Given the description of an element on the screen output the (x, y) to click on. 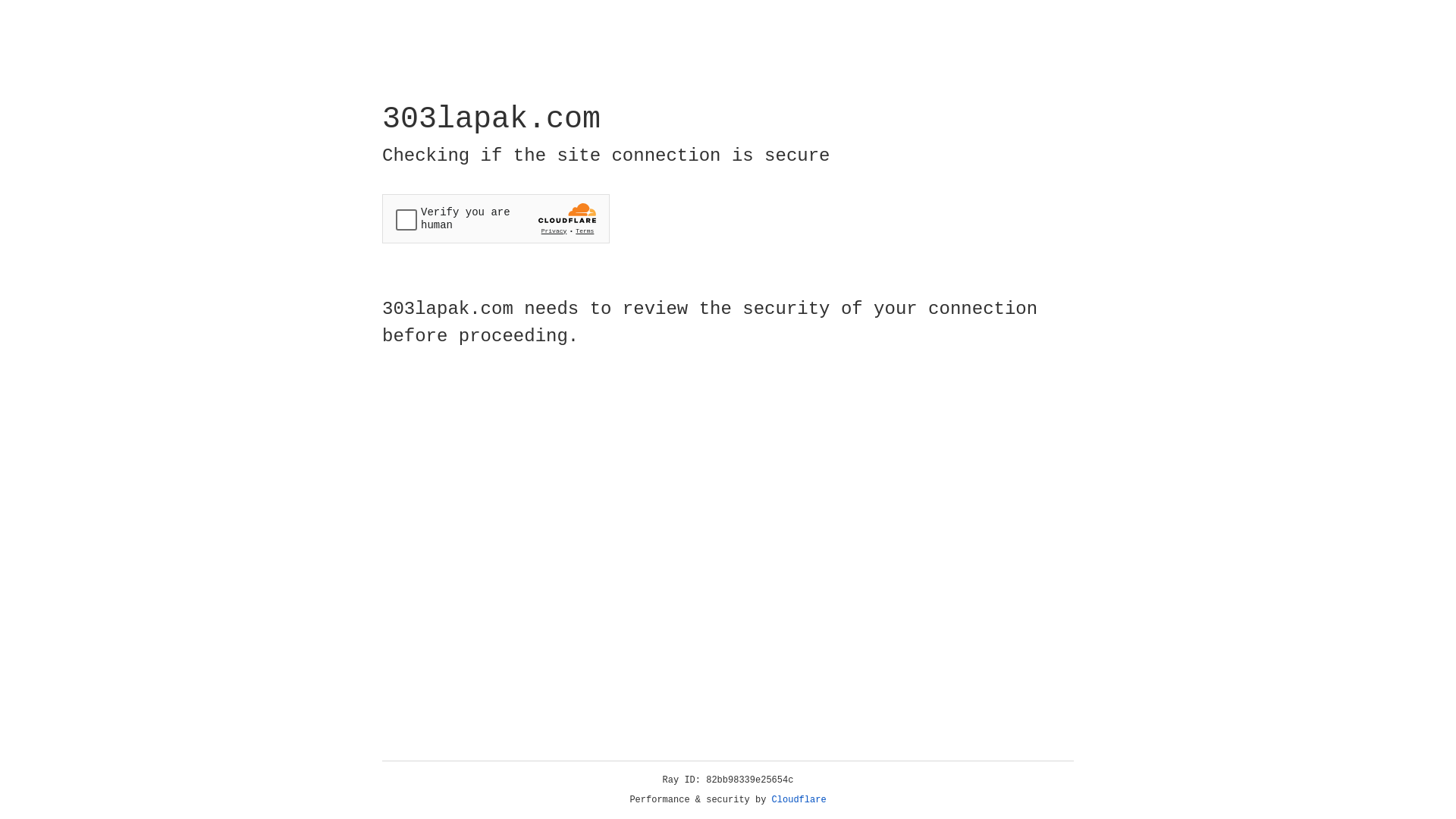
Widget containing a Cloudflare security challenge Element type: hover (495, 218)
Cloudflare Element type: text (798, 799)
